Given the description of an element on the screen output the (x, y) to click on. 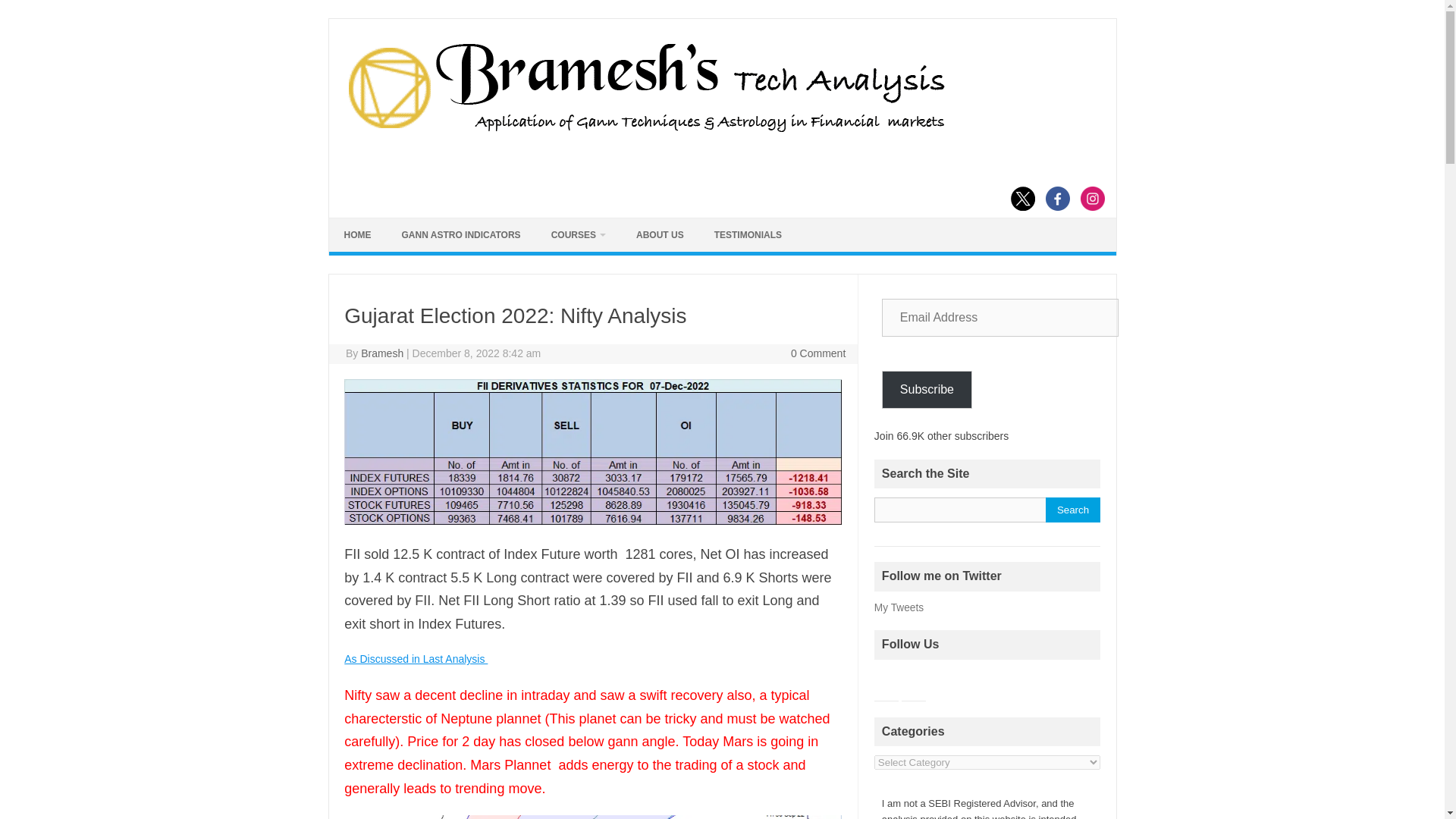
COURSES (578, 234)
Bramesh's Technical Analysis (645, 132)
Search (1072, 509)
TESTIMONIALS (747, 234)
GANN ASTRO INDICATORS (461, 234)
Subscribe (927, 389)
Search (1072, 509)
HOME (358, 234)
ABOUT US (659, 234)
Bramesh (382, 353)
